Given the description of an element on the screen output the (x, y) to click on. 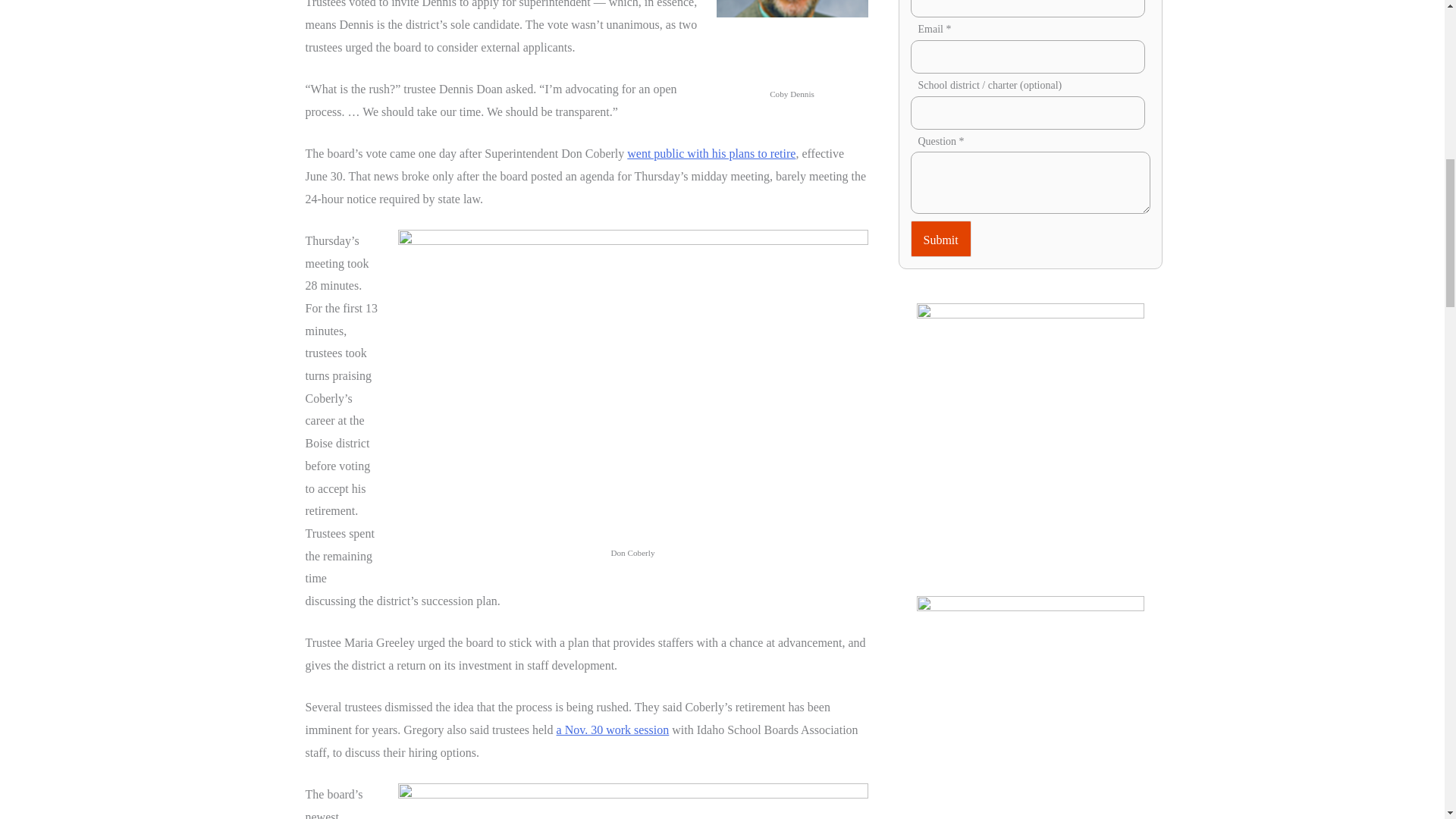
went public with his plans to retire (710, 153)
a Nov. 30 work session (612, 729)
Submit (940, 238)
